Given the description of an element on the screen output the (x, y) to click on. 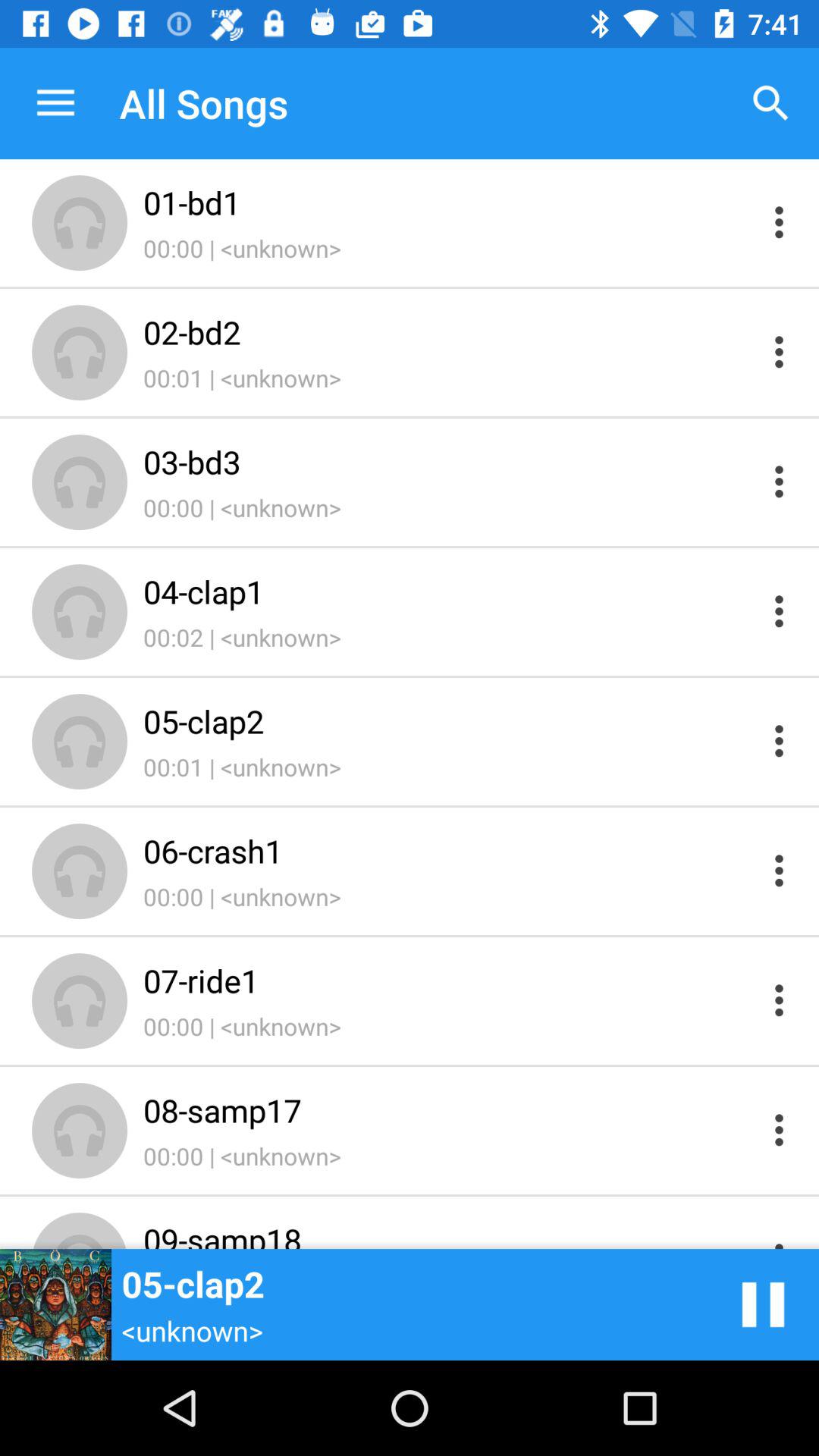
show more options (779, 481)
